Given the description of an element on the screen output the (x, y) to click on. 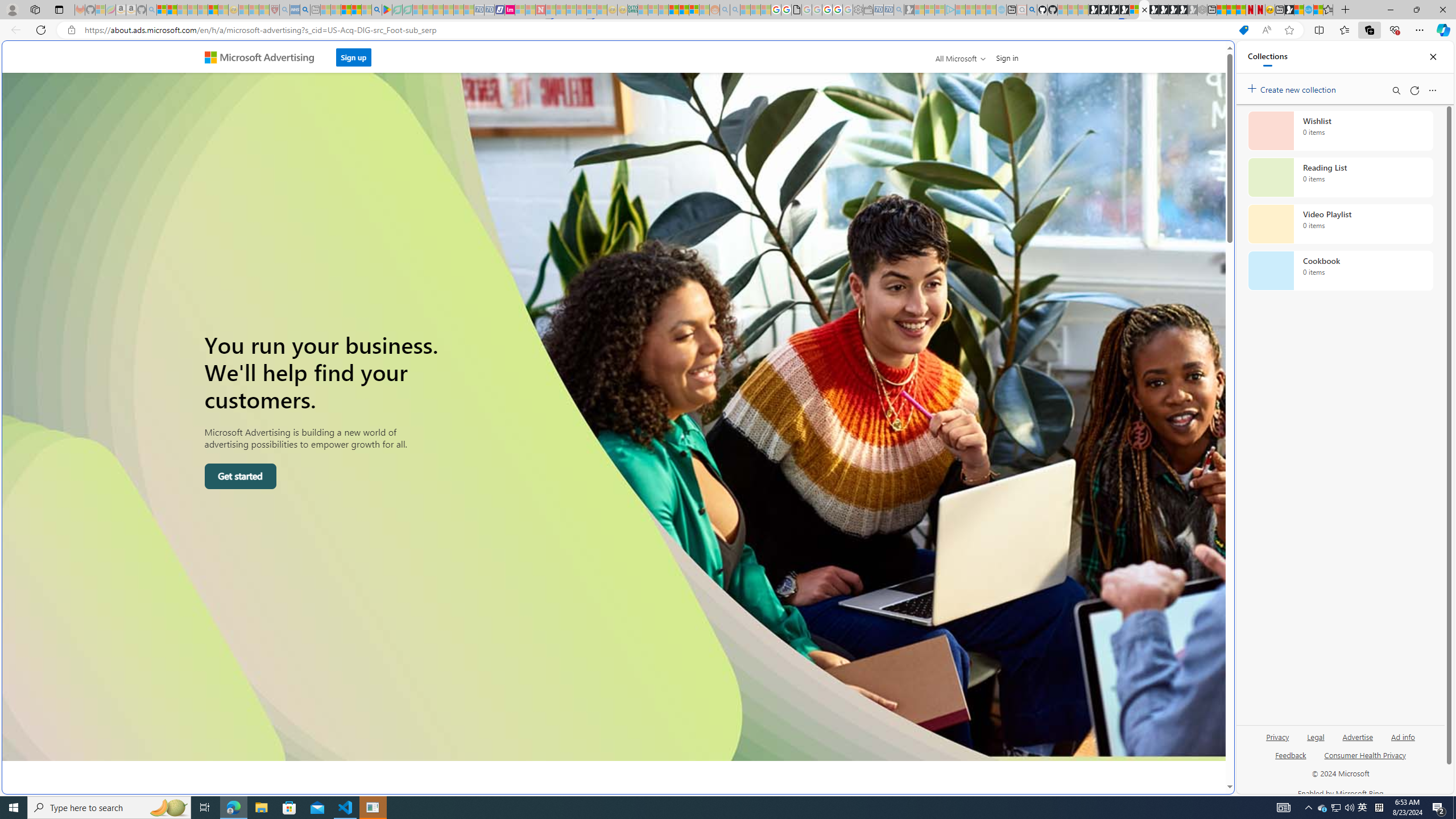
Bluey: Let's Play! - Apps on Google Play (387, 9)
Tabs you've opened (885, 151)
